Given the description of an element on the screen output the (x, y) to click on. 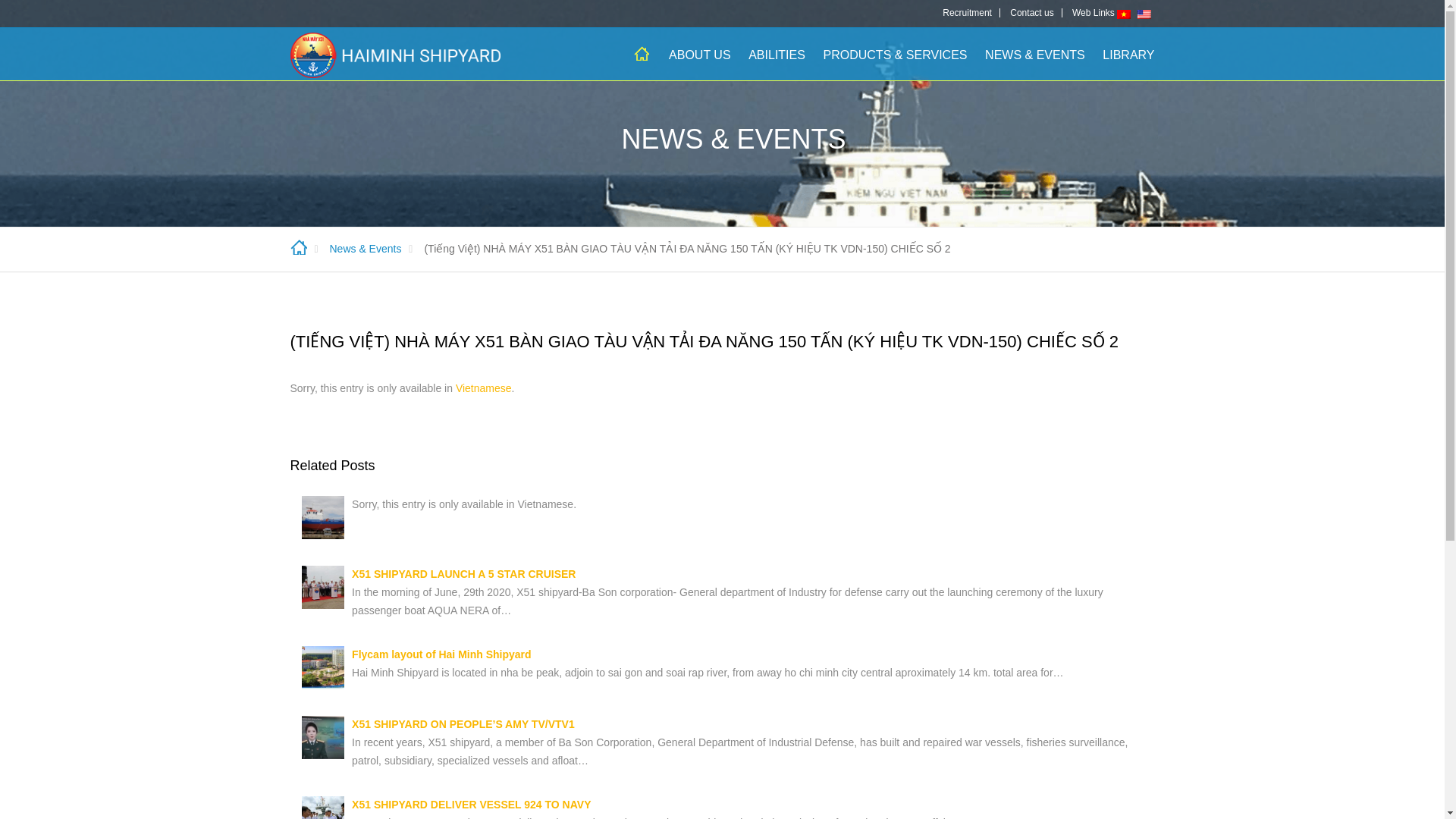
Contact us (1032, 12)
ABILITIES (776, 58)
Vietnamese (483, 387)
Recruitment (971, 12)
HOME (641, 53)
ABOUT US (699, 58)
Web Links (1089, 12)
LIBRARY (1124, 58)
